Given the description of an element on the screen output the (x, y) to click on. 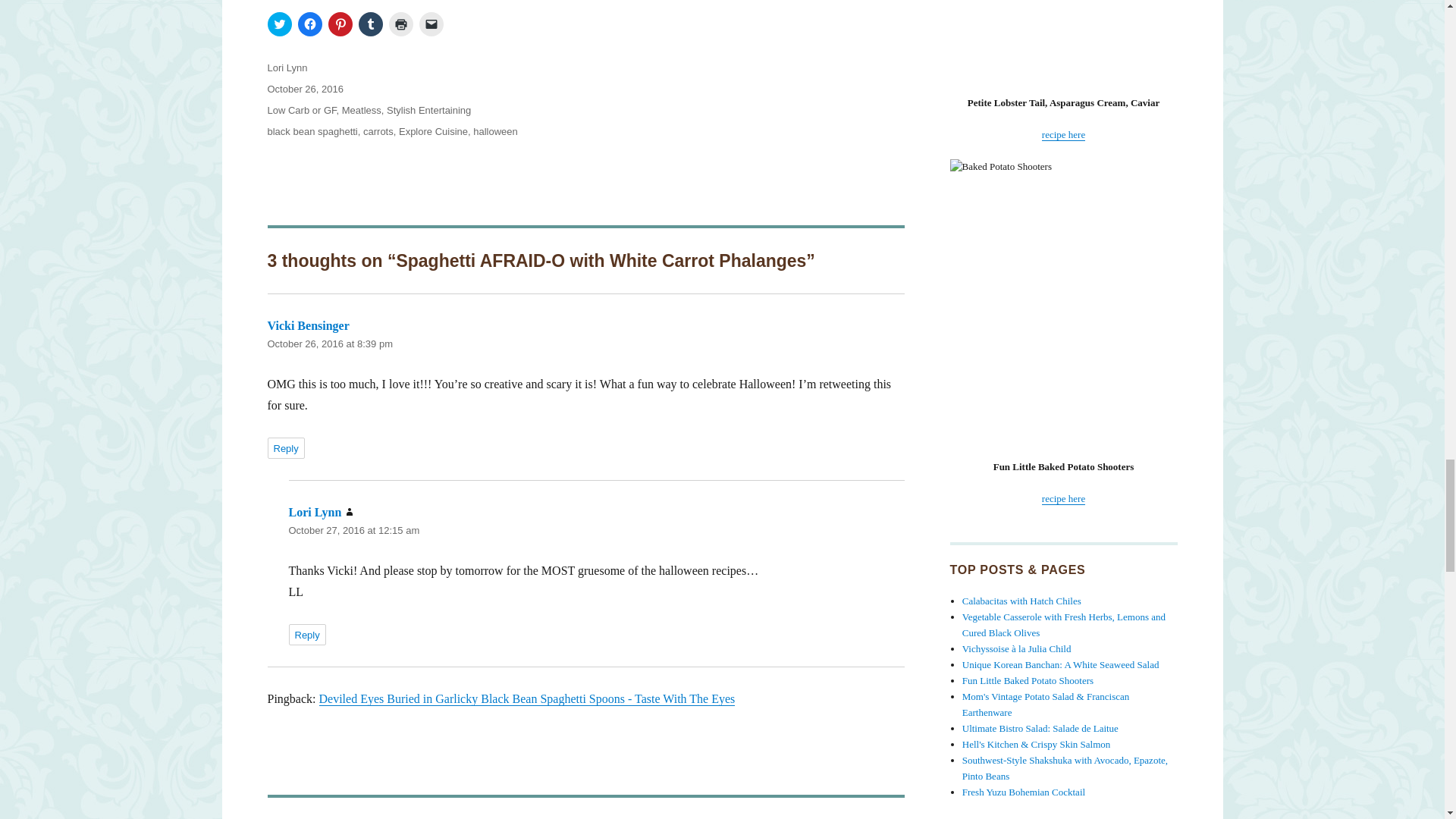
Click to print (400, 24)
Meatless (361, 110)
October 26, 2016 at 8:39 pm (329, 343)
Click to email a link to a friend (430, 24)
Vicki Bensinger (307, 325)
Lori Lynn (314, 512)
October 27, 2016 at 12:15 am (353, 530)
Explore Cuisine (432, 131)
Click to share on Pinterest (339, 24)
Low Carb or GF (301, 110)
Click to share on Twitter (278, 24)
Reply (285, 447)
Click to share on Facebook (309, 24)
black bean spaghetti (311, 131)
